Given the description of an element on the screen output the (x, y) to click on. 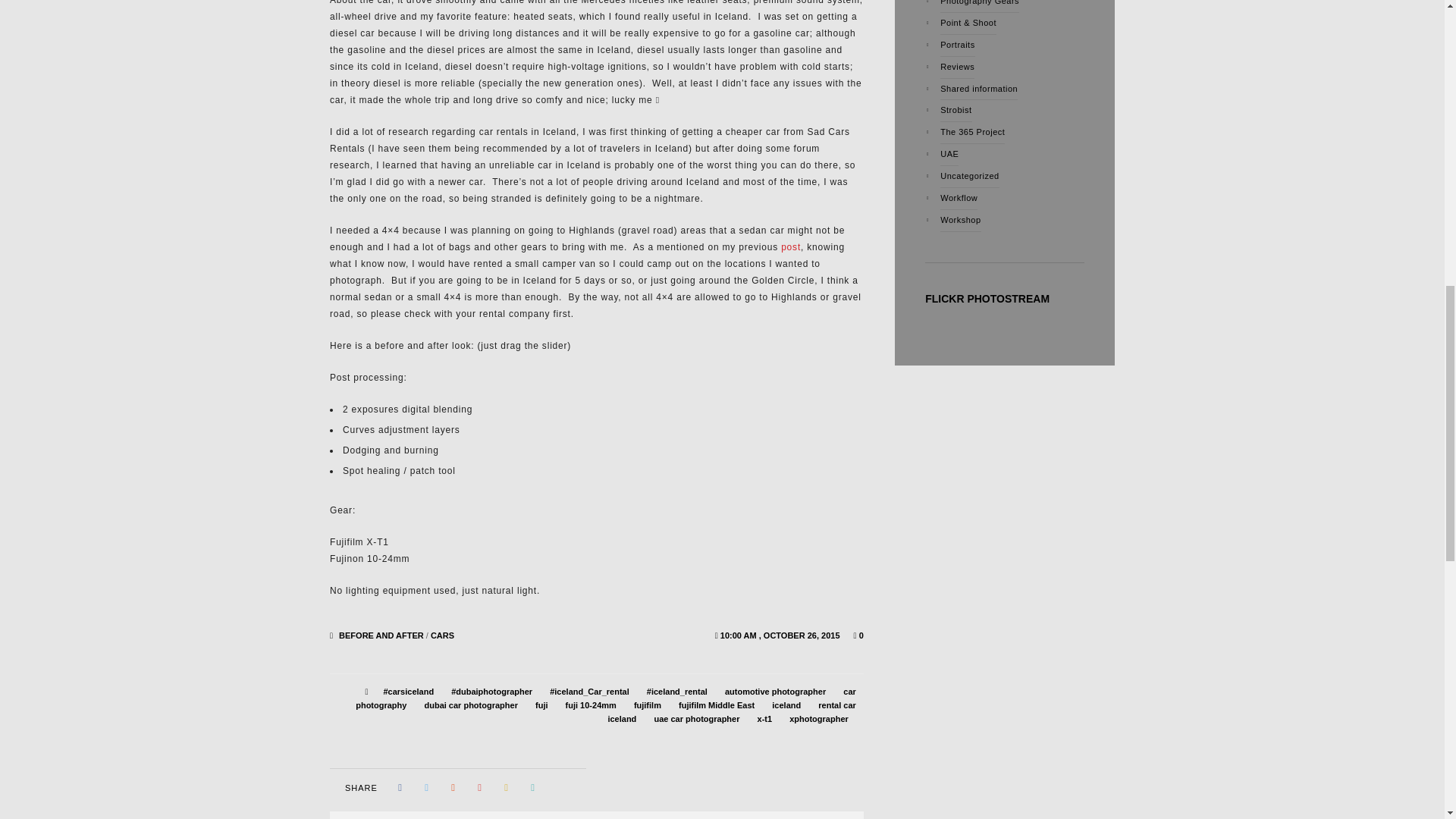
automotive photographer (774, 691)
BEFORE AND AFTER (381, 634)
uae car photographer (696, 718)
Permalink to My Rental Car in Iceland (781, 634)
post (790, 246)
rental car iceland (731, 711)
fuji (541, 705)
fuji 10-24mm (590, 705)
iceland (786, 705)
fujifilm Middle East (716, 705)
dubai car photographer (470, 705)
10:00 AM , OCTOBER 26, 2015 (781, 634)
CARS (442, 634)
fujifilm (647, 705)
x-t1 (764, 718)
